Given the description of an element on the screen output the (x, y) to click on. 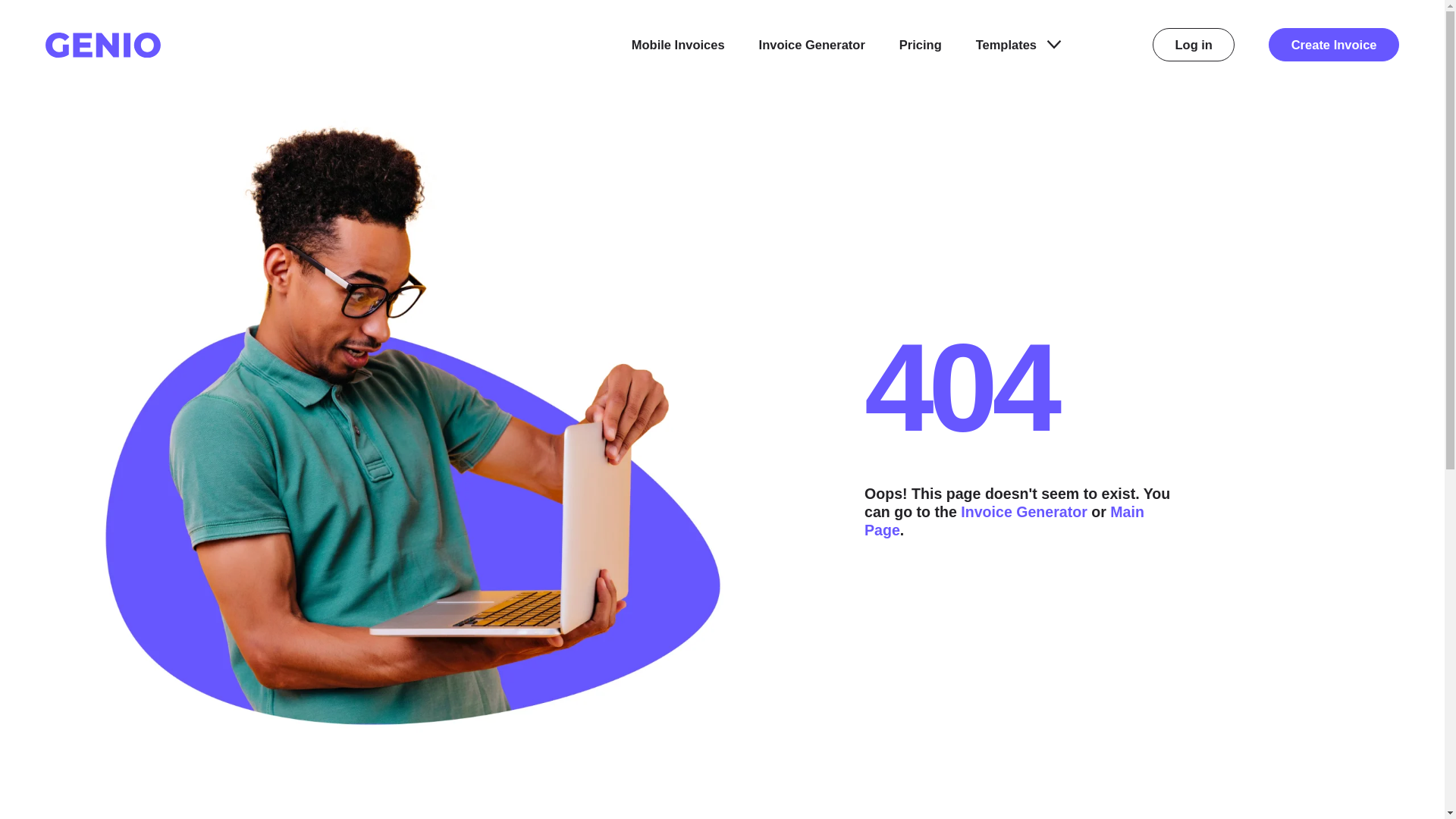
Main Page (1004, 520)
Invoice Generator (1023, 511)
Pricing (920, 44)
Invoice Generator (811, 44)
Log in (1193, 44)
Templates (1018, 44)
Create Invoice (1333, 44)
Mobile Invoices (678, 44)
